Given the description of an element on the screen output the (x, y) to click on. 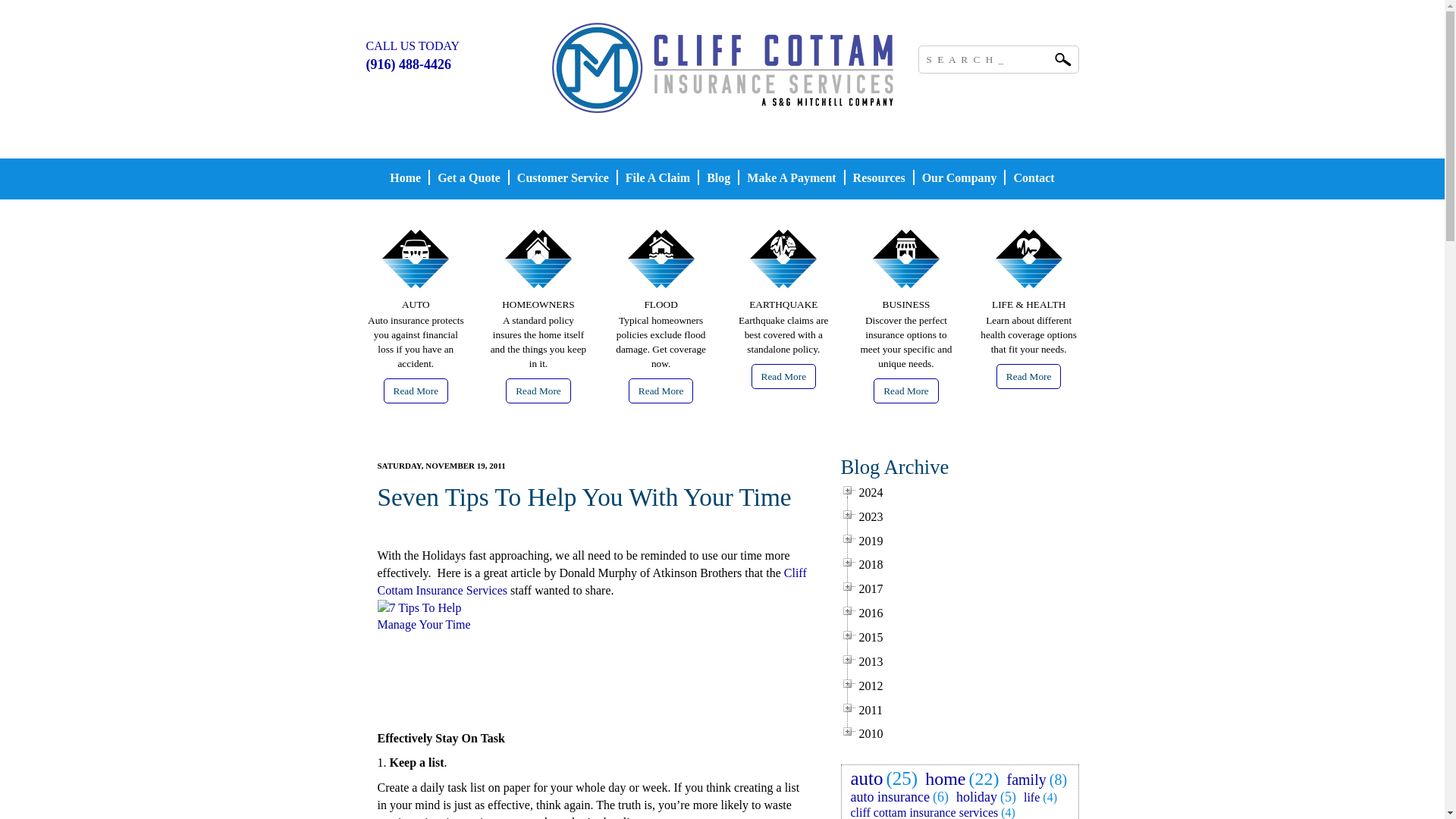
Homeowners Insurance (537, 270)
Blog (718, 178)
Business Insurance (906, 390)
Flood Insurance (661, 390)
Earthquake Insurance (783, 376)
File A Claim (657, 178)
Get a Quote (468, 178)
Business Insurance (906, 270)
Earthquake Insurance (783, 270)
